Given the description of an element on the screen output the (x, y) to click on. 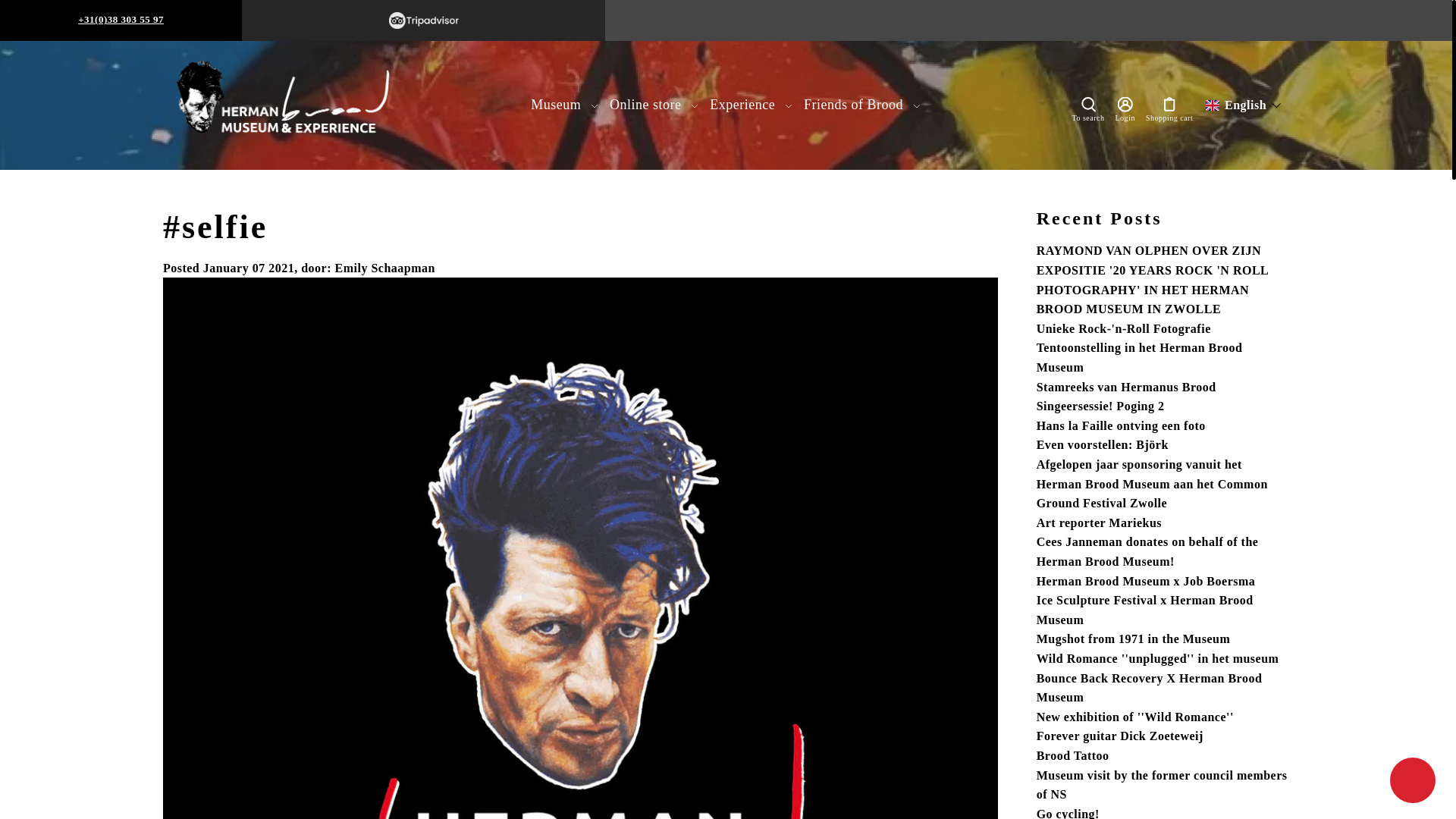
Wild Romance ''unplugged'' in het museum (1157, 658)
Mugshot from 1971 in the Museum (1133, 638)
Herman Brood Museum x Job Boersma (1145, 581)
Brood Tattoo (1072, 755)
Experience (750, 105)
Art reporter Mariekus  (1098, 522)
Cees Janneman donates on behalf of the Herman Brood Museum! (1147, 551)
Museum (564, 105)
